Given the description of an element on the screen output the (x, y) to click on. 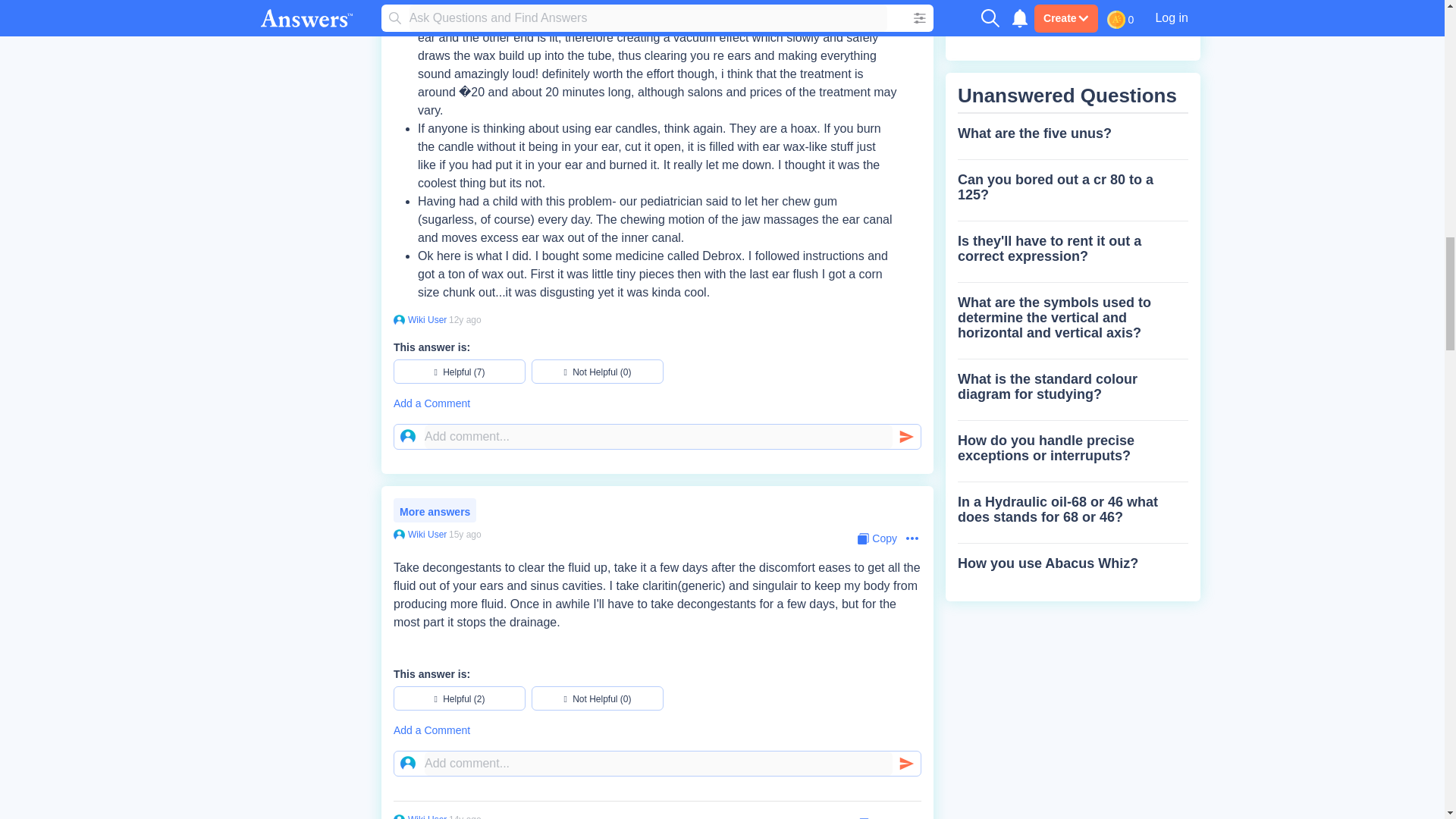
2009-02-27 13:17:42 (464, 534)
Wiki User (425, 319)
2010-05-02 02:57:10 (464, 816)
2011-09-13 22:03:19 (464, 319)
